Given the description of an element on the screen output the (x, y) to click on. 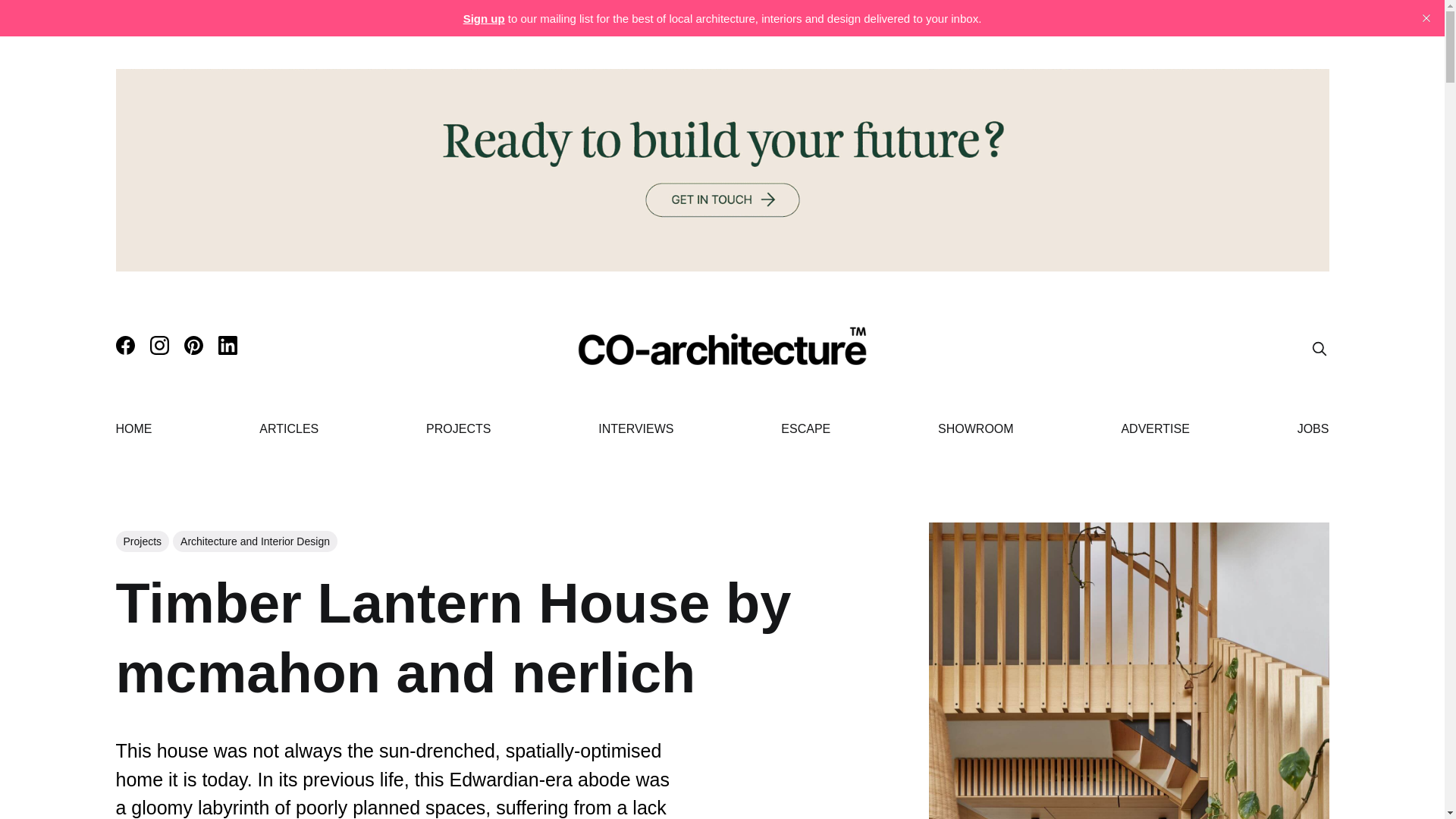
ESCAPE (804, 428)
JOBS (1313, 428)
ARTICLES (288, 428)
Architecture and Interior Design (255, 541)
Sign up (484, 18)
SHOWROOM (975, 428)
HOME (133, 428)
INTERVIEWS (635, 428)
ADVERTISE (1155, 428)
Projects (141, 541)
PROJECTS (458, 428)
